Given the description of an element on the screen output the (x, y) to click on. 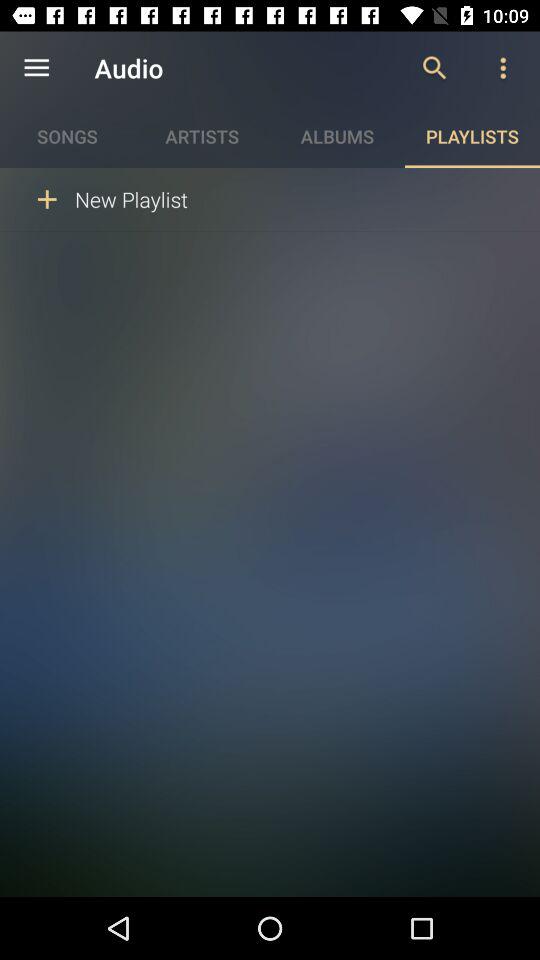
tap icon above playlists (503, 68)
